Given the description of an element on the screen output the (x, y) to click on. 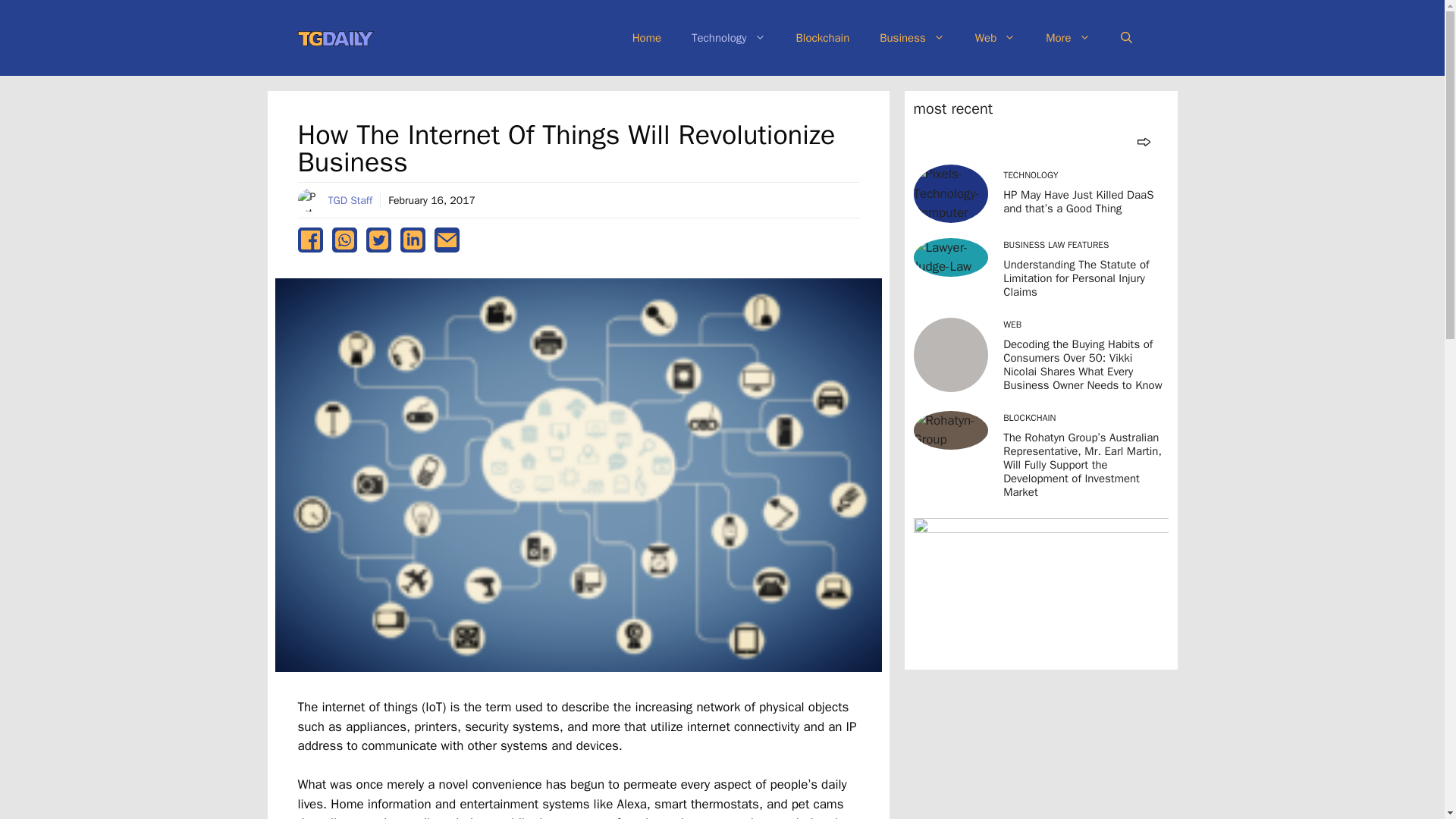
Business (911, 37)
Home (647, 37)
Technology (728, 37)
purple-600x400-1 (1039, 588)
More (1067, 37)
Blockchain (822, 37)
Web (994, 37)
